Given the description of an element on the screen output the (x, y) to click on. 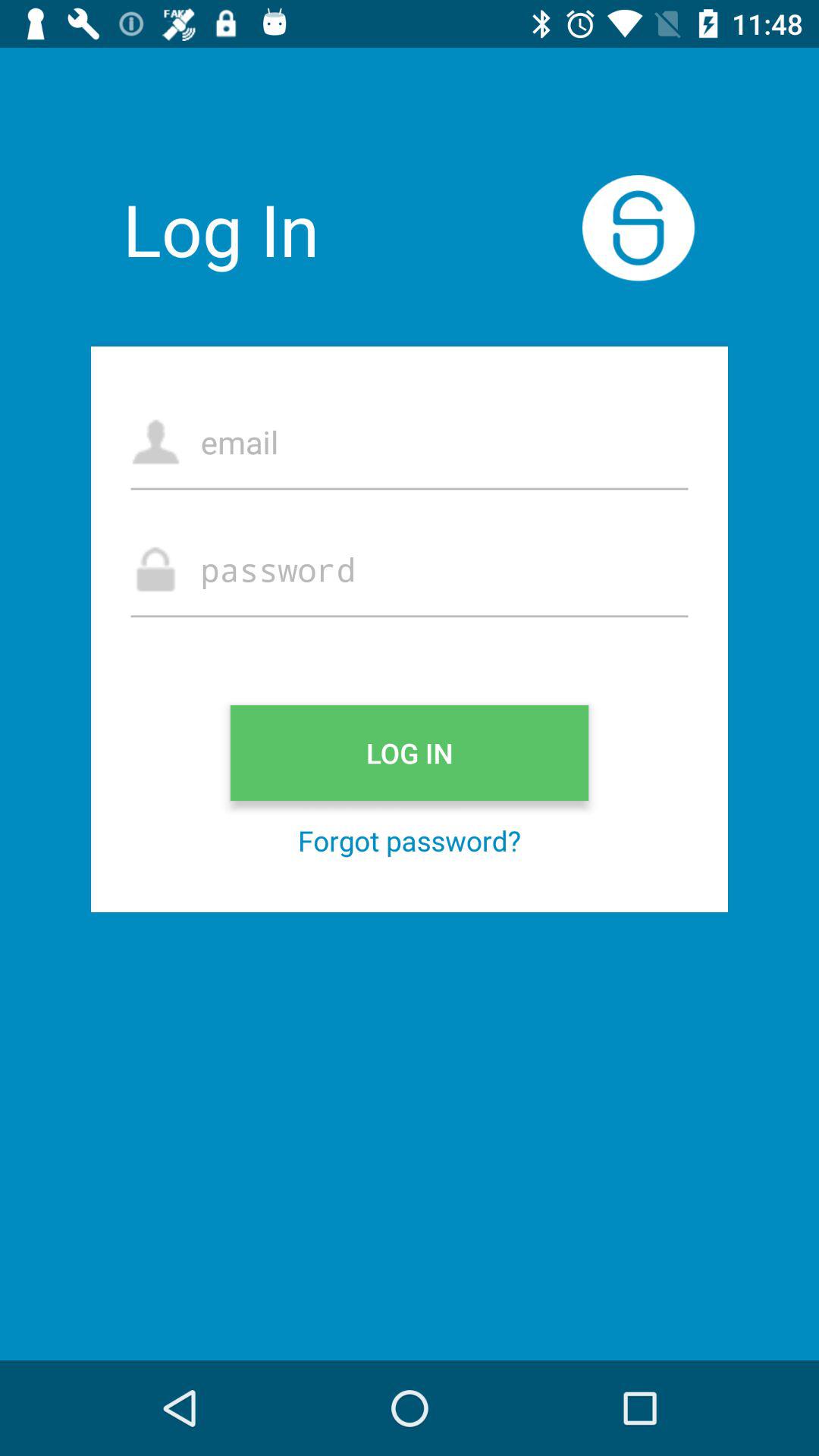
enter password here (409, 569)
